Given the description of an element on the screen output the (x, y) to click on. 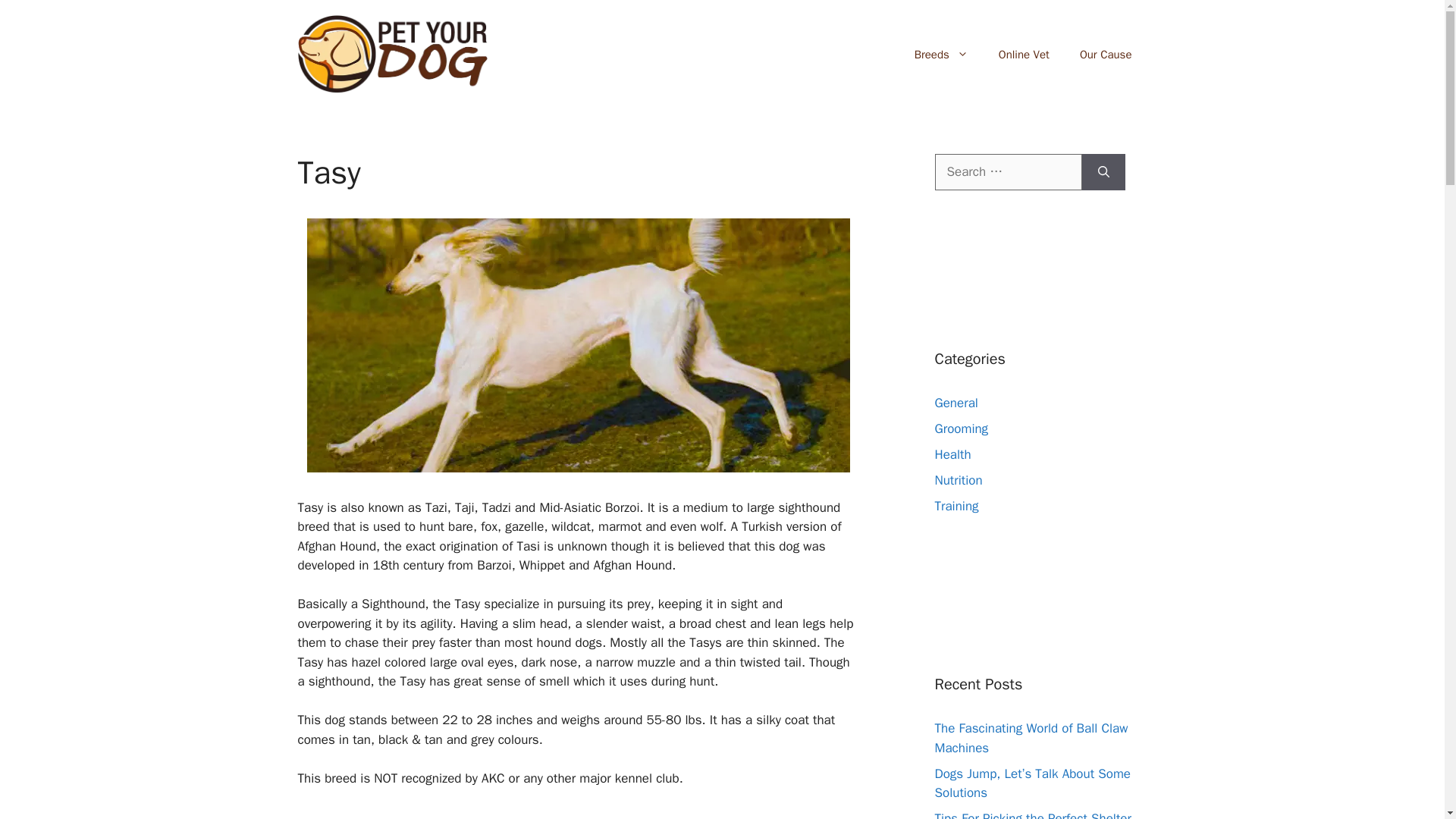
Nutrition (957, 480)
General (955, 402)
Our Cause (1105, 53)
Breeds (941, 53)
Grooming (961, 428)
Health (952, 454)
Online Vet (1024, 53)
